Given the description of an element on the screen output the (x, y) to click on. 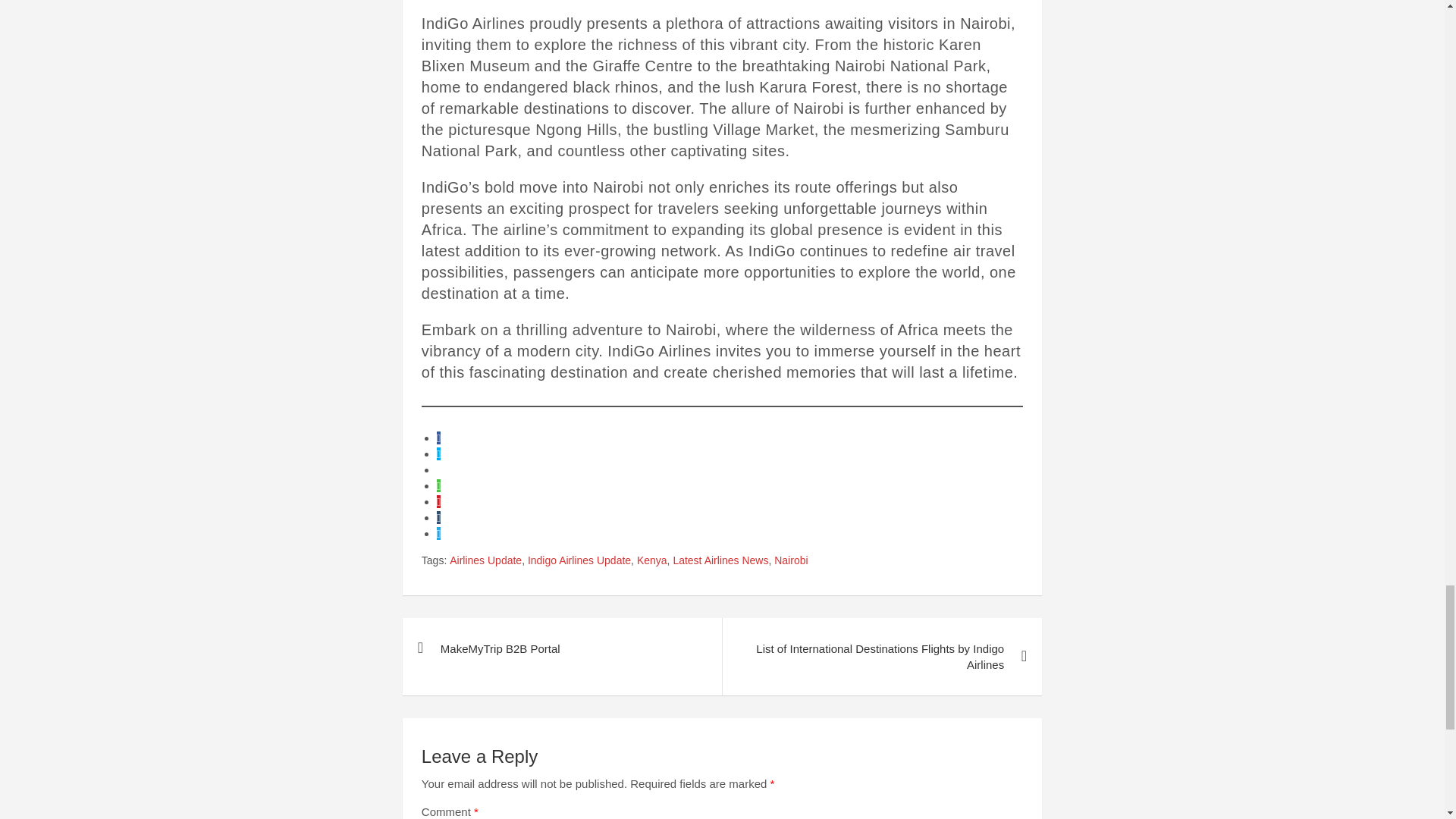
Kenya (651, 560)
Indigo Airlines Update (578, 560)
Airlines Update (485, 560)
